Given the description of an element on the screen output the (x, y) to click on. 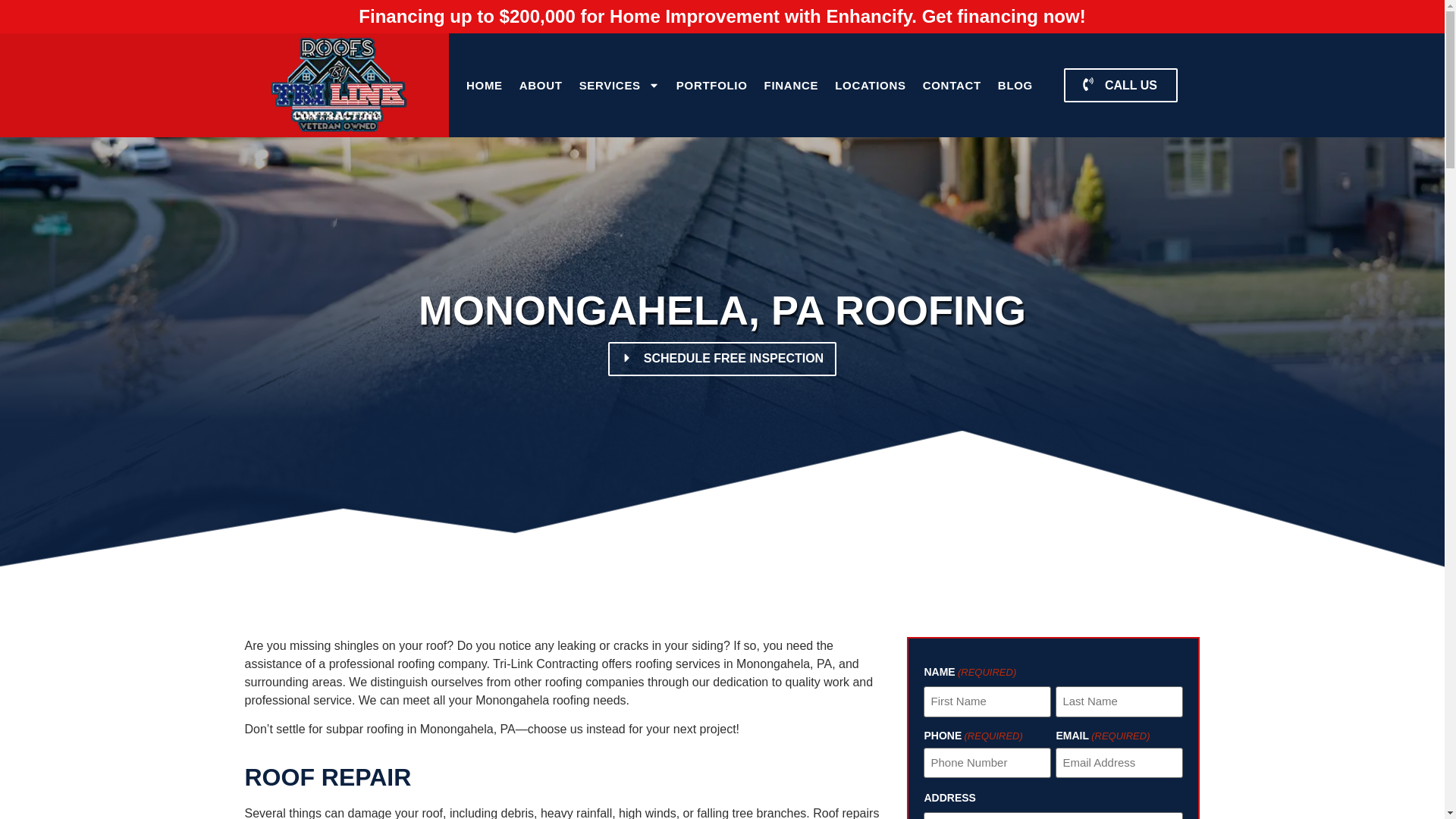
FINANCE (791, 85)
CALL US (1119, 84)
SERVICES (619, 85)
BLOG (1015, 85)
HOME (484, 85)
LOCATIONS (870, 85)
ABOUT (540, 85)
PORTFOLIO (711, 85)
CONTACT (951, 85)
